Given the description of an element on the screen output the (x, y) to click on. 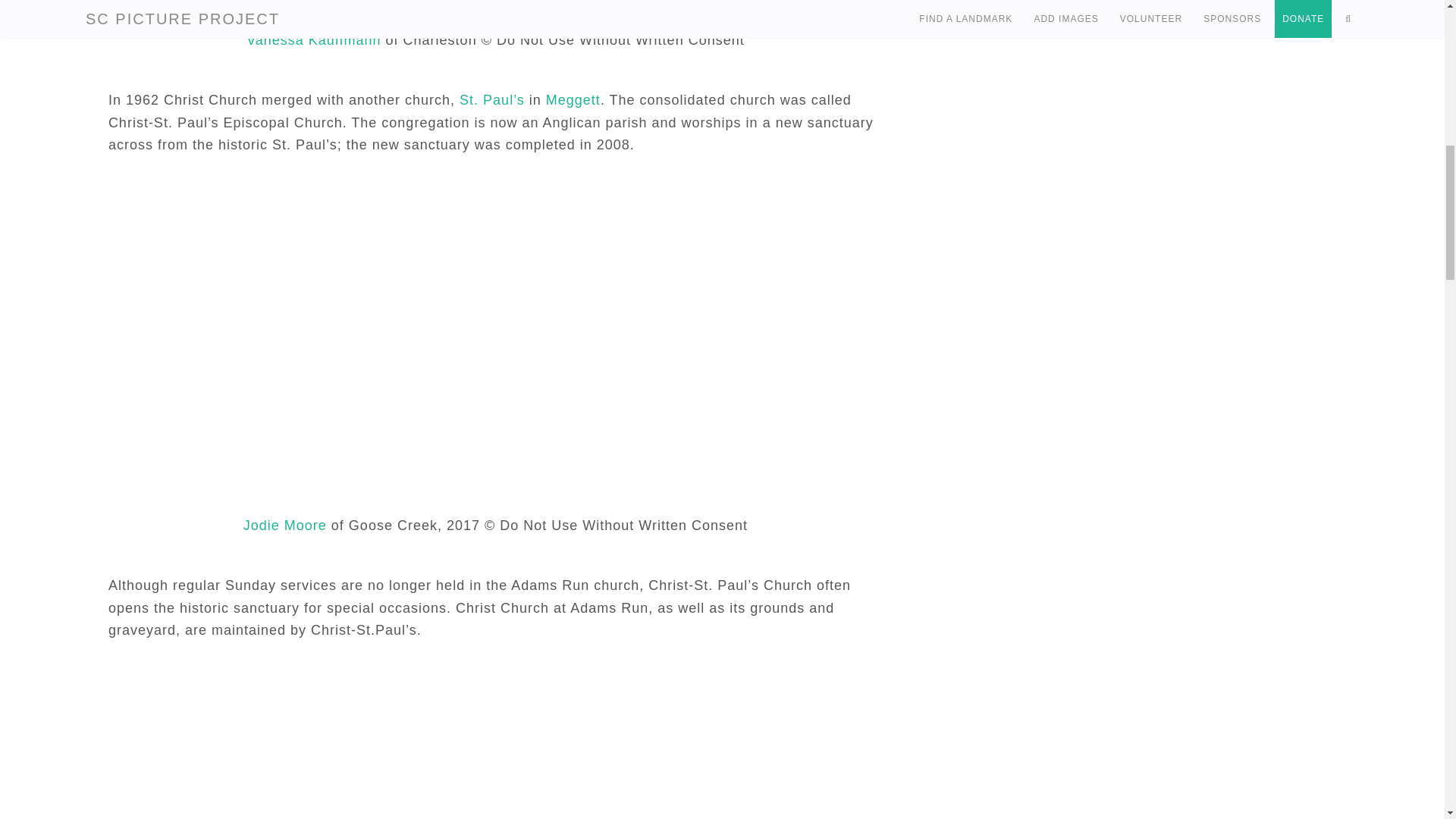
Vanessa Kauffmann (313, 39)
Jodie Moore (284, 525)
Meggett (572, 99)
Christ Church SC (494, 11)
